Given the description of an element on the screen output the (x, y) to click on. 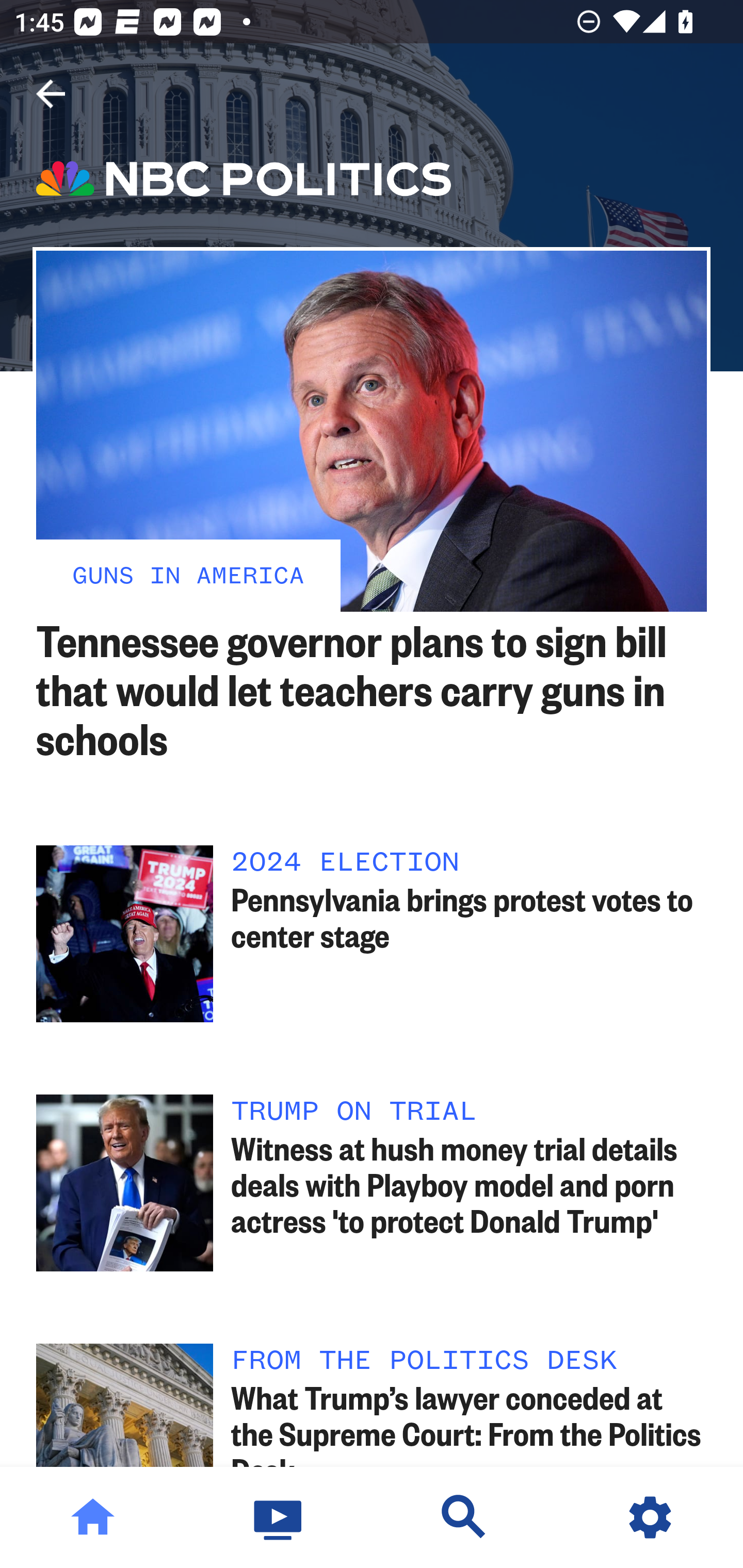
Navigate up (50, 93)
Watch (278, 1517)
Discover (464, 1517)
Settings (650, 1517)
